Given the description of an element on the screen output the (x, y) to click on. 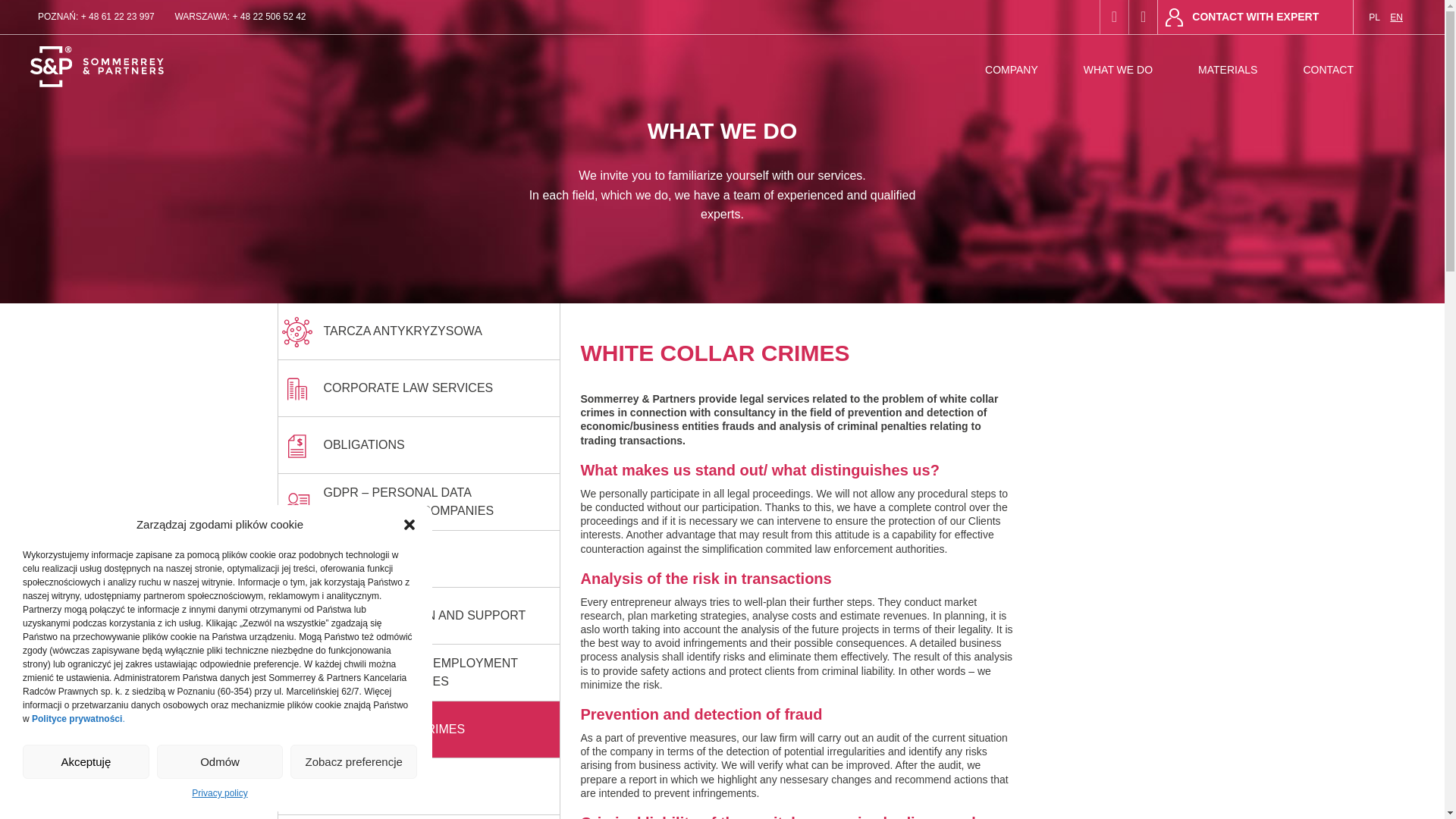
OBLIGATIONS (418, 445)
EN (1396, 17)
Zobacz preferencje (352, 761)
TAX OPTIMISATION AND SUPPORT (418, 616)
COMPANY (1010, 69)
MATERIALS (1227, 69)
WHITE COLLAR CRIMES (418, 729)
TARCZA ANTYKRYZYSOWA (418, 331)
OPTIMISATION OF EMPLOYMENT AND HR PROCESSES (418, 672)
CONTACT WITH EXPERT (1255, 17)
CONTACT (1327, 69)
PL (1374, 17)
Privacy policy (219, 793)
WHAT WE DO (1117, 69)
BUSINESS SUCCESSION (418, 816)
